Given the description of an element on the screen output the (x, y) to click on. 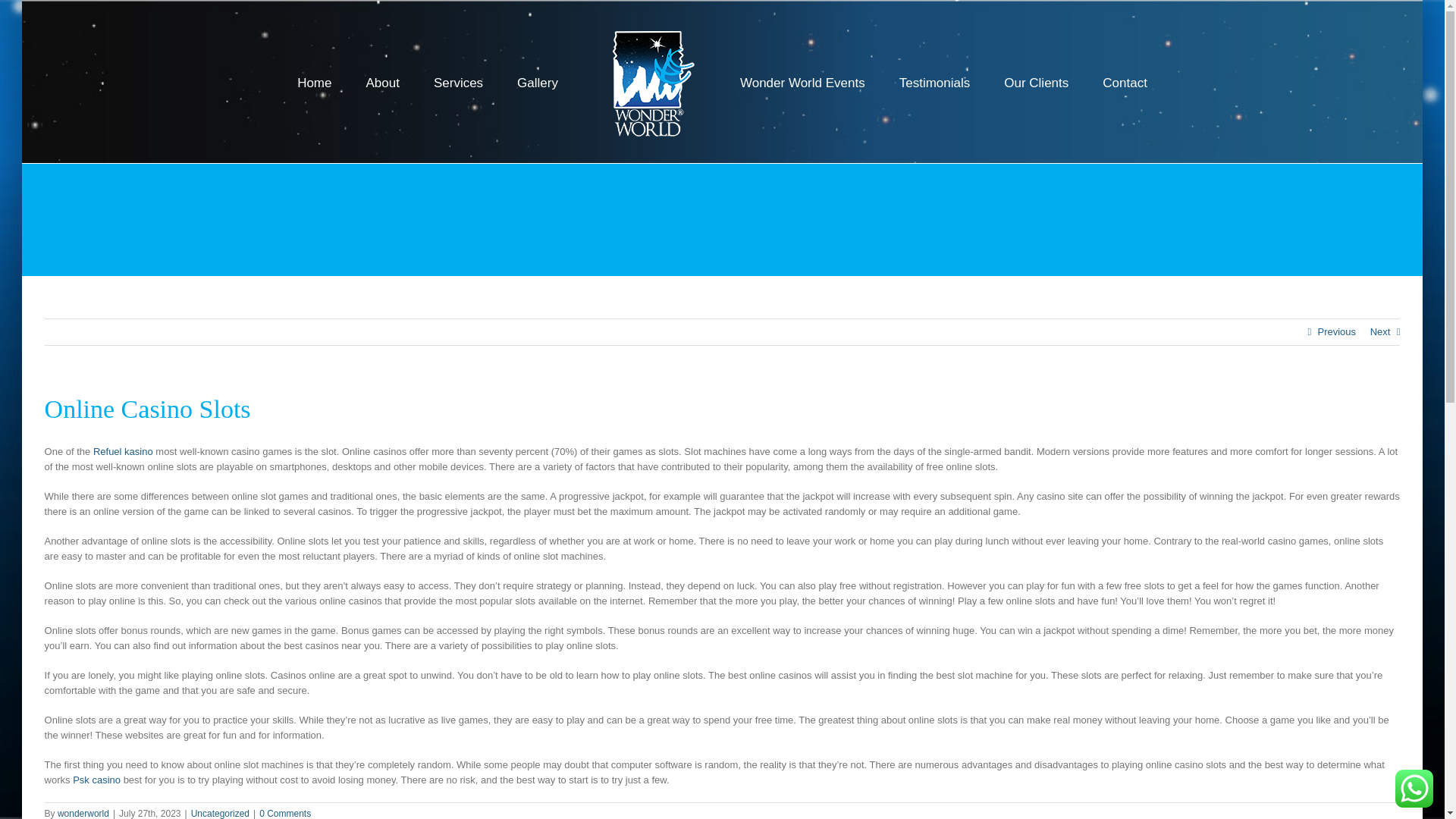
Posts by wonderworld (83, 813)
Testimonials (935, 81)
Our Clients (1036, 81)
Wonder World Events (801, 81)
